Given the description of an element on the screen output the (x, y) to click on. 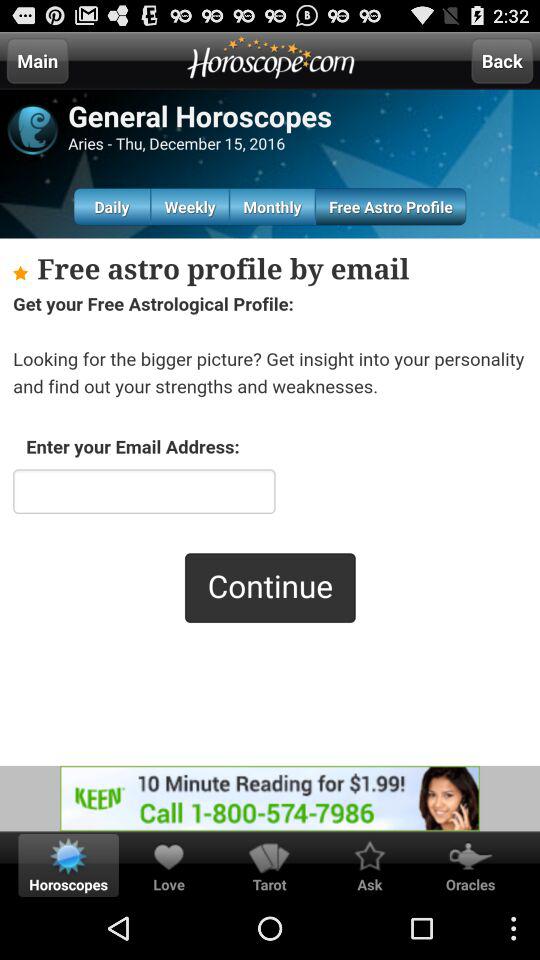
description (270, 501)
